Given the description of an element on the screen output the (x, y) to click on. 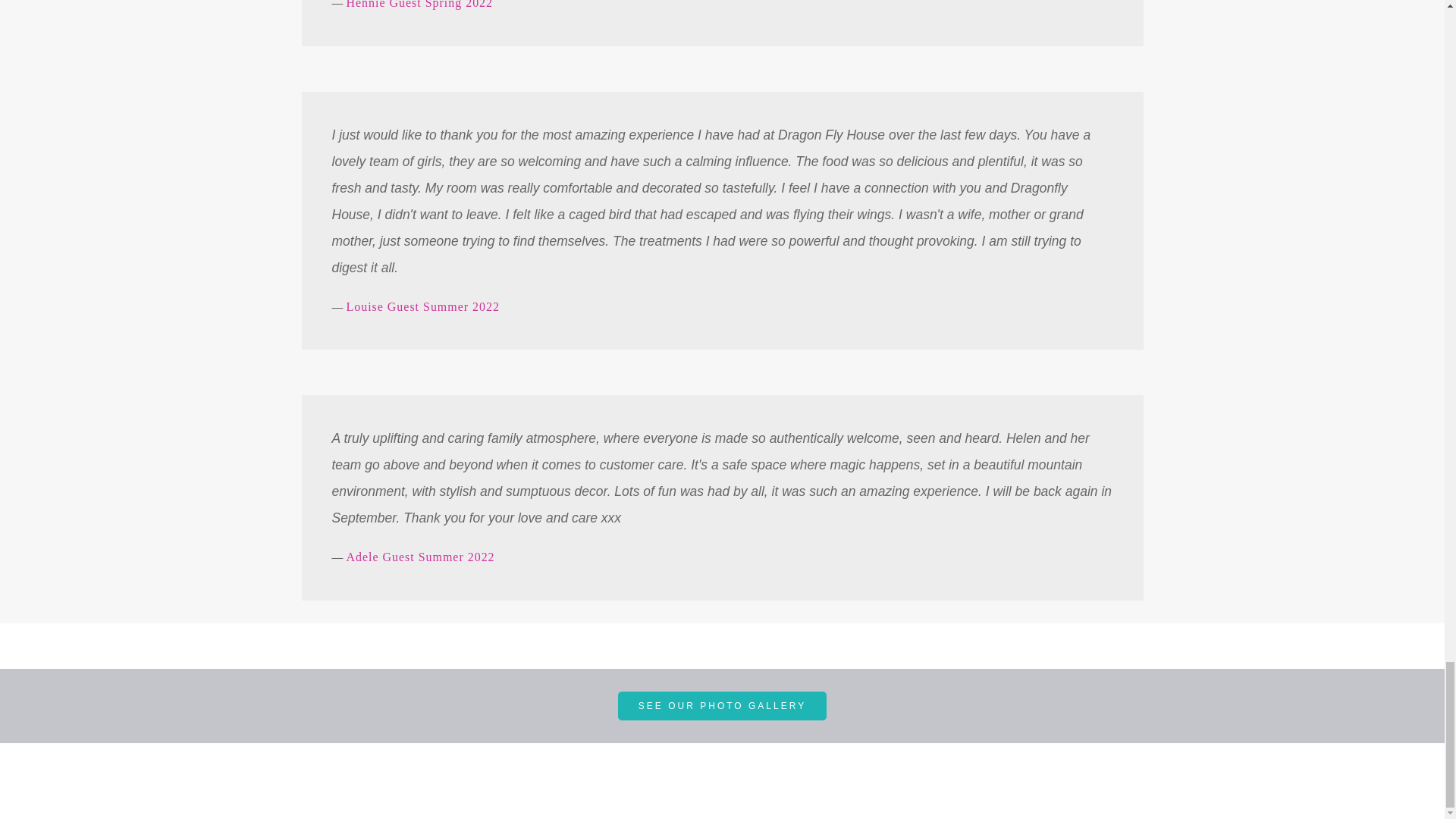
Gallery (722, 705)
SEE OUR PHOTO GALLERY (722, 705)
